Given the description of an element on the screen output the (x, y) to click on. 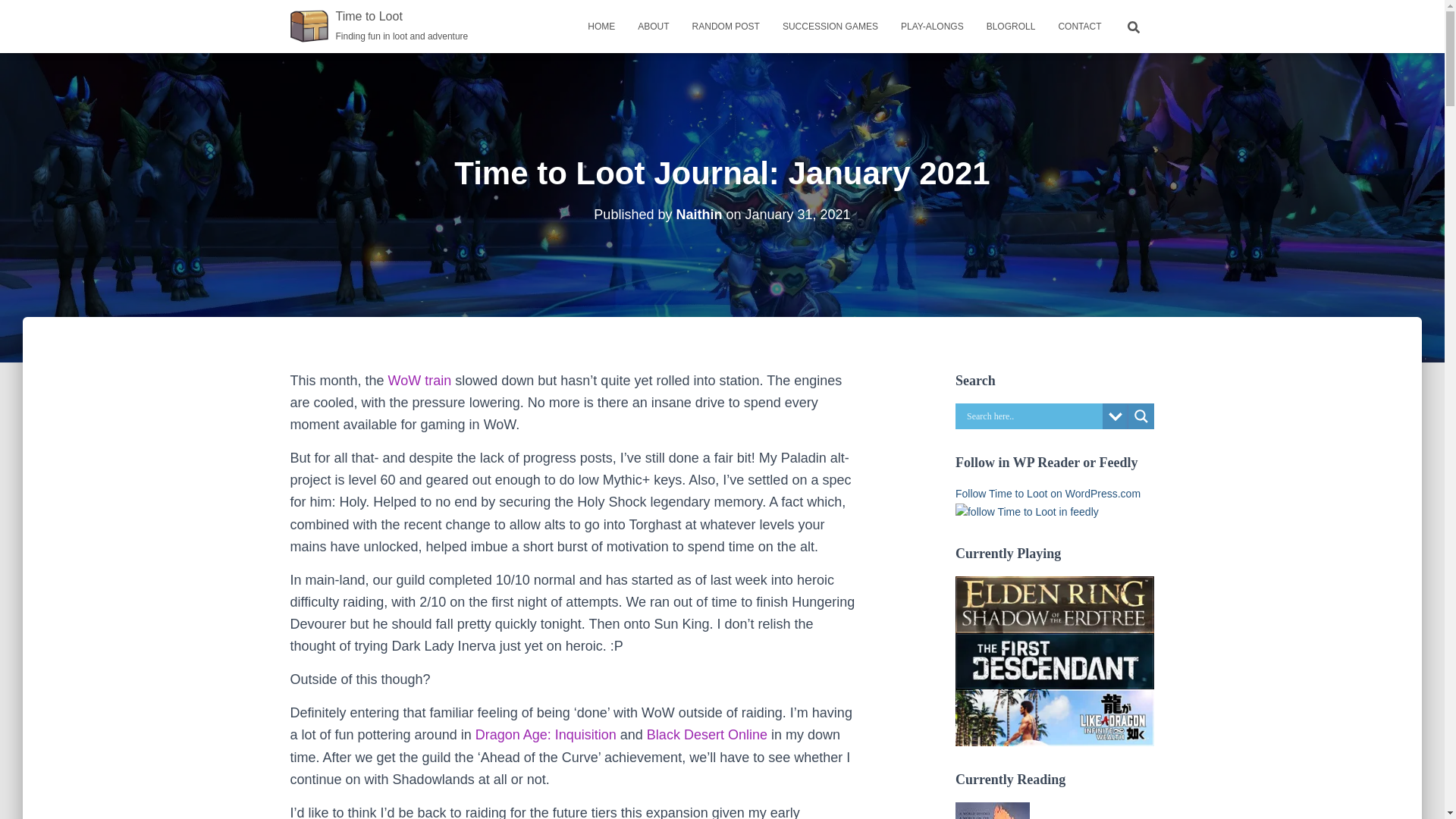
Dragon Age: Inquisition (545, 734)
Black Desert Online (706, 734)
Time to Loot (379, 26)
SUCCESSION GAMES (830, 26)
CONTACT (1079, 26)
Blogroll (1010, 26)
About (652, 26)
PLAY-ALONGS (932, 26)
BLOGROLL (1010, 26)
Random Post (726, 26)
ABOUT (652, 26)
Home (379, 26)
Succession Games (601, 26)
Play-Alongs (830, 26)
